Given the description of an element on the screen output the (x, y) to click on. 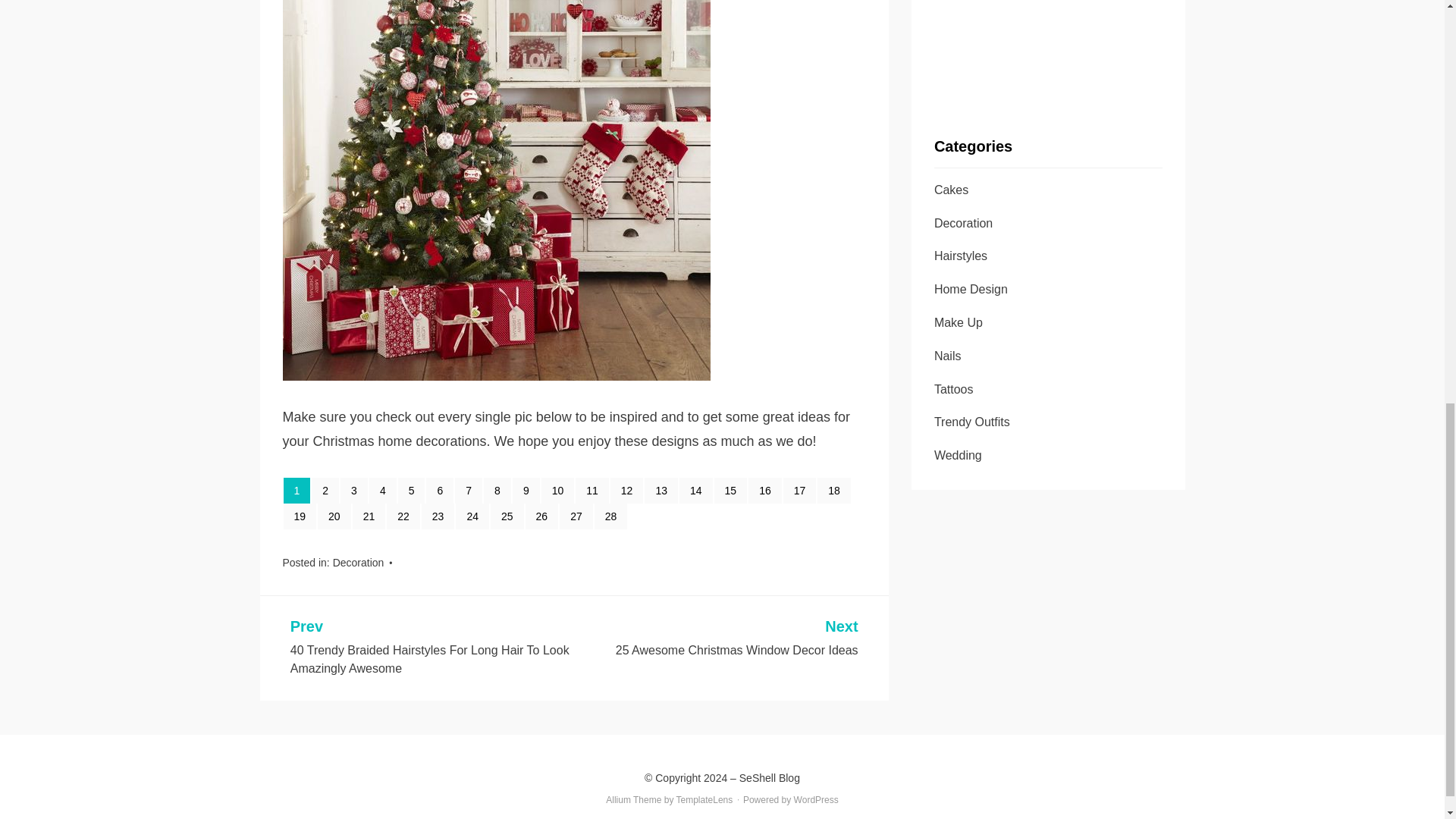
21 (368, 516)
2 (325, 490)
15 (731, 490)
26 (542, 516)
19 (300, 516)
14 (696, 490)
4 (382, 490)
25 (507, 516)
10 (558, 490)
23 (438, 516)
